Given the description of an element on the screen output the (x, y) to click on. 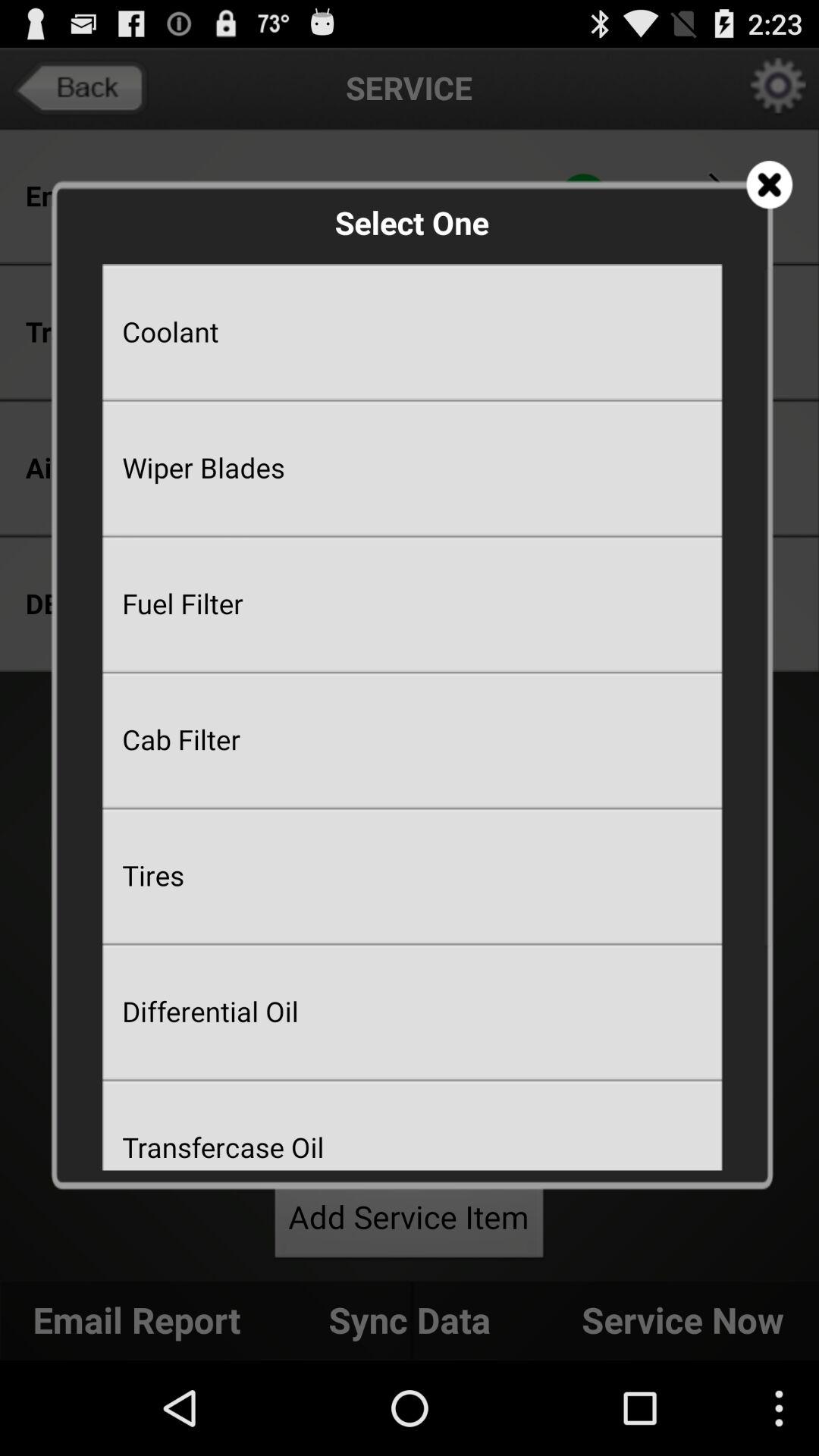
close the screen (769, 184)
